Given the description of an element on the screen output the (x, y) to click on. 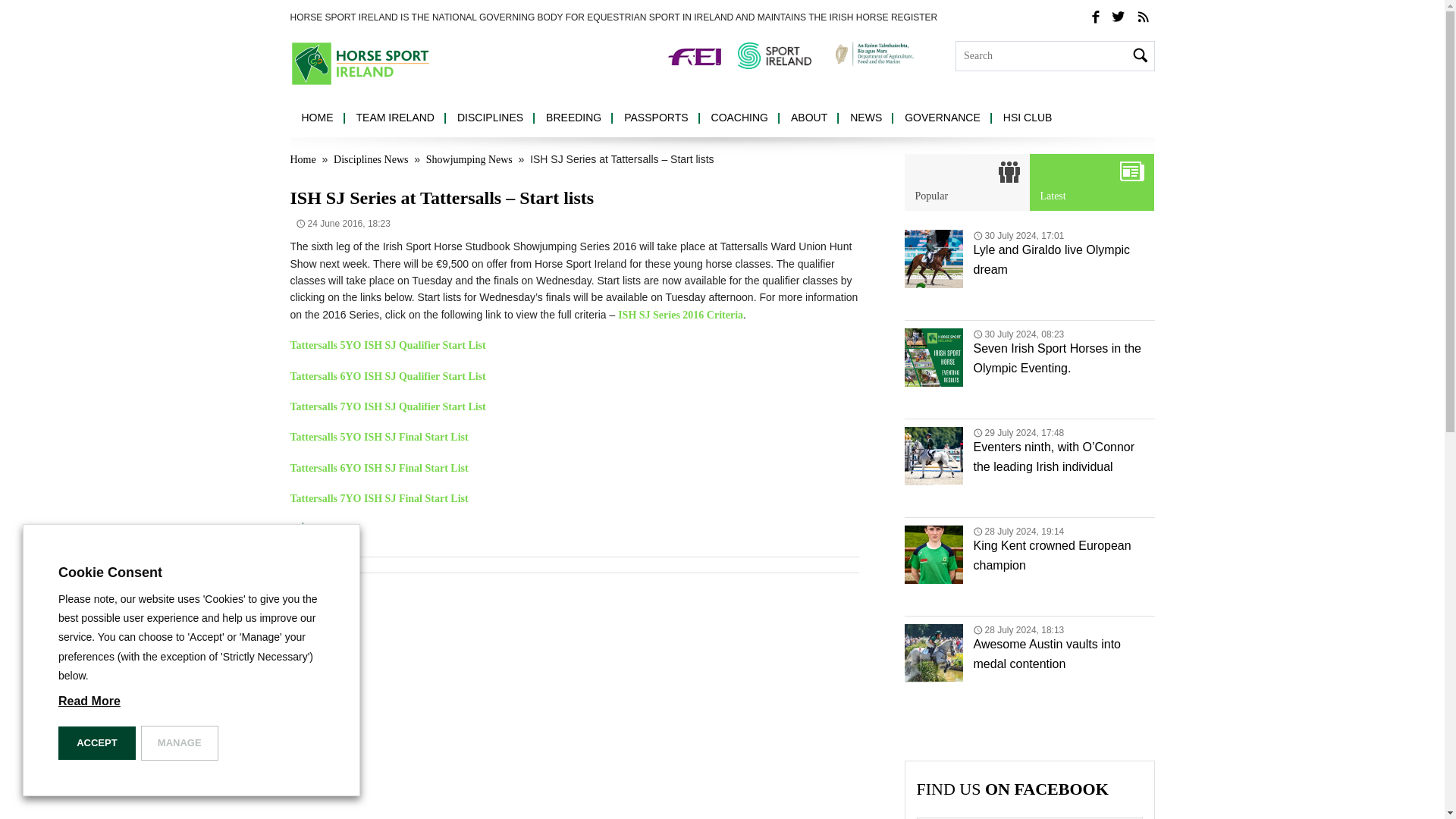
HOME (316, 118)
DISCIPLINES (489, 118)
TEAM IRELAND (394, 118)
